Given the description of an element on the screen output the (x, y) to click on. 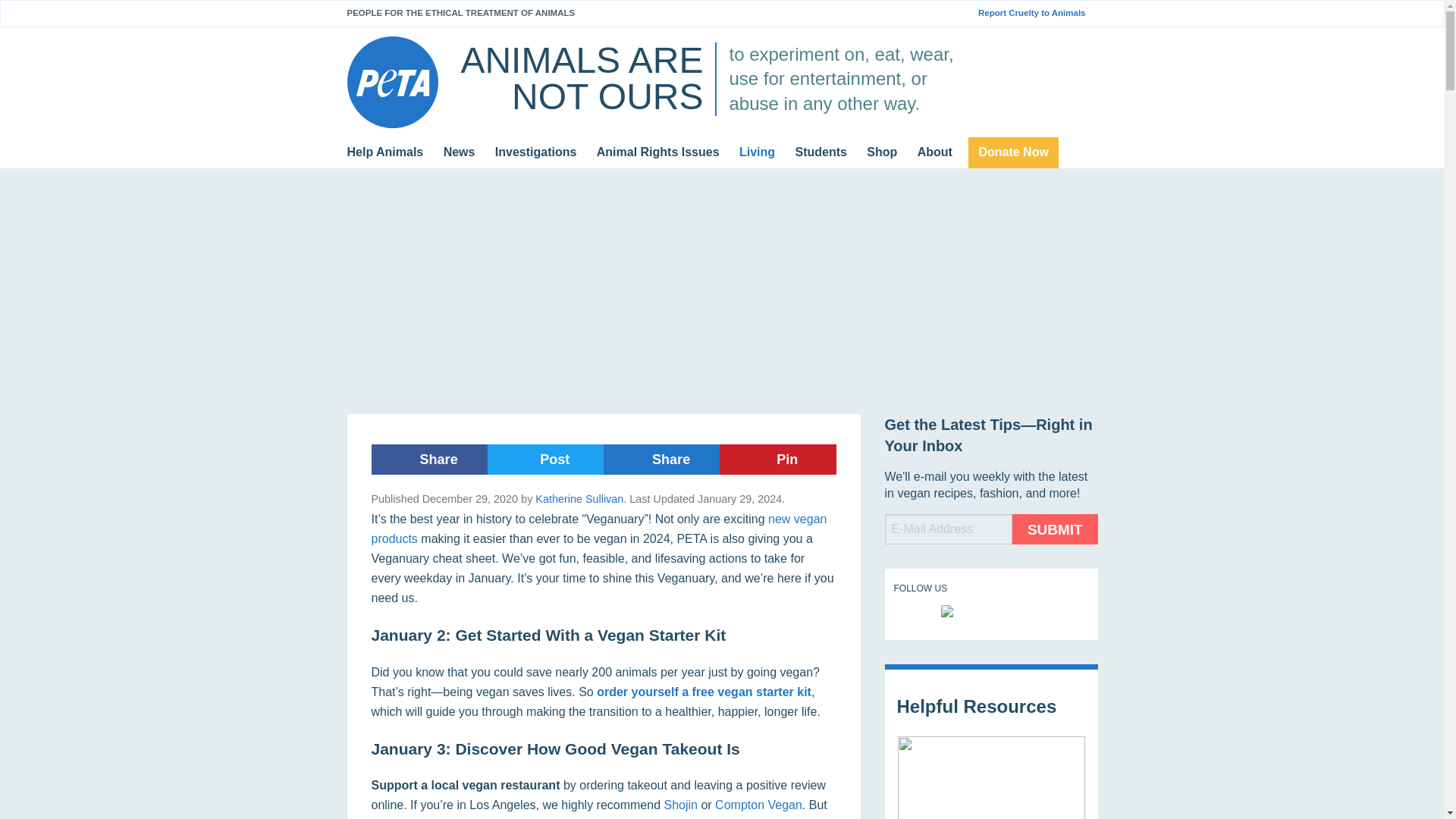
Submit (1054, 529)
PEOPLE FOR THE ETHICAL TREATMENT OF ANIMALS (461, 13)
Report Cruelty to Animals (1037, 13)
ANIMALS ARE NOT OURS (581, 78)
